Given the description of an element on the screen output the (x, y) to click on. 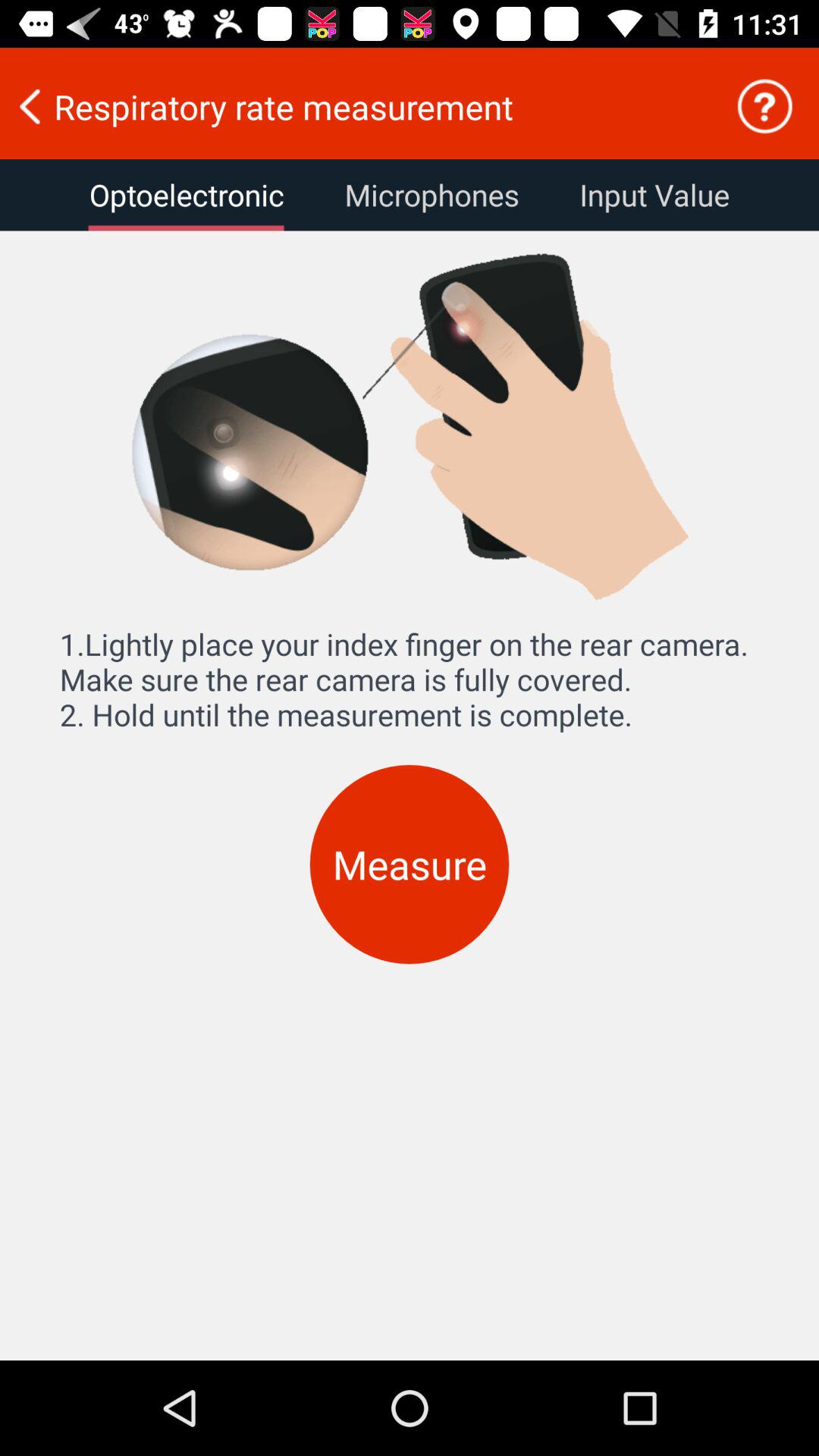
turn off respiratory rate measurement (357, 106)
